Given the description of an element on the screen output the (x, y) to click on. 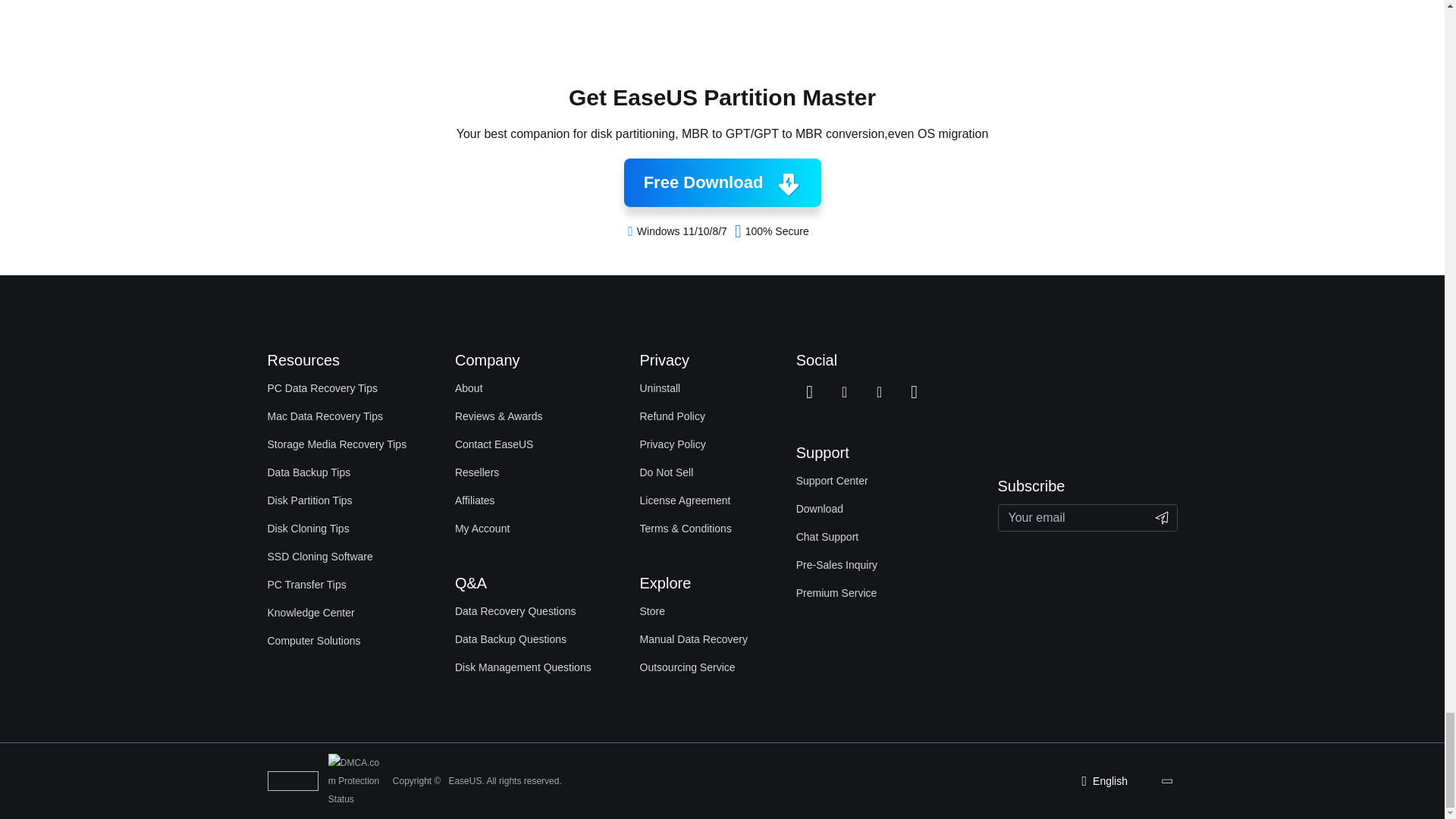
DMCA.com Protection Status (358, 779)
